Given the description of an element on the screen output the (x, y) to click on. 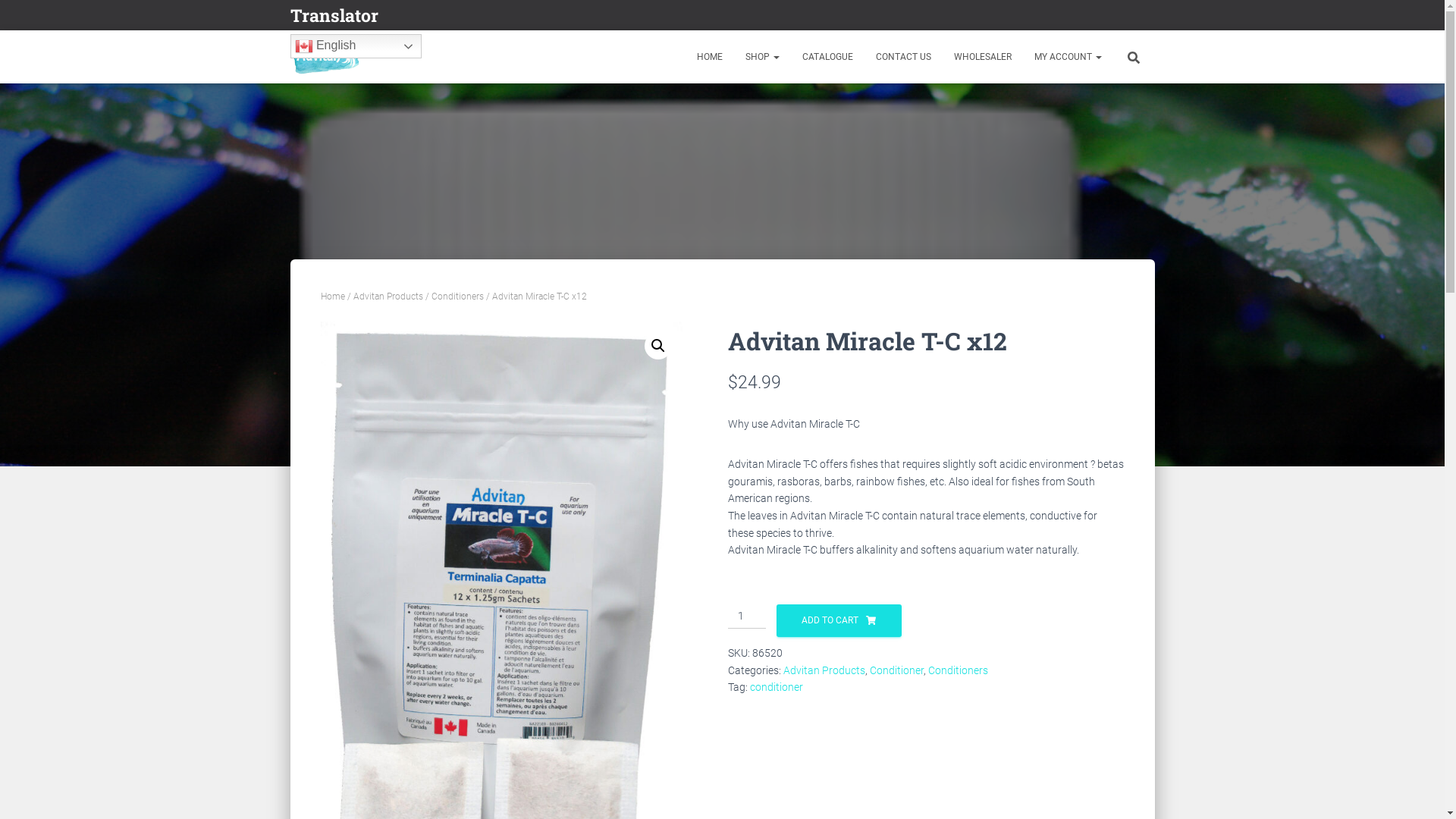
HOME Element type: text (709, 56)
Home Element type: text (332, 296)
ADVITAN INC. Element type: hover (326, 56)
Conditioners Element type: text (456, 296)
Conditioners Element type: text (958, 670)
Advitan Products Element type: text (388, 296)
WHOLESALER Element type: text (981, 56)
English Element type: text (354, 46)
Advitan Products Element type: text (823, 670)
Conditioner Element type: text (895, 670)
CONTACT US Element type: text (903, 56)
SHOP Element type: text (762, 56)
ADD TO CART Element type: text (838, 620)
conditioner Element type: text (775, 686)
Search Element type: text (3, 16)
CATALOGUE Element type: text (826, 56)
MY ACCOUNT Element type: text (1067, 56)
